Given the description of an element on the screen output the (x, y) to click on. 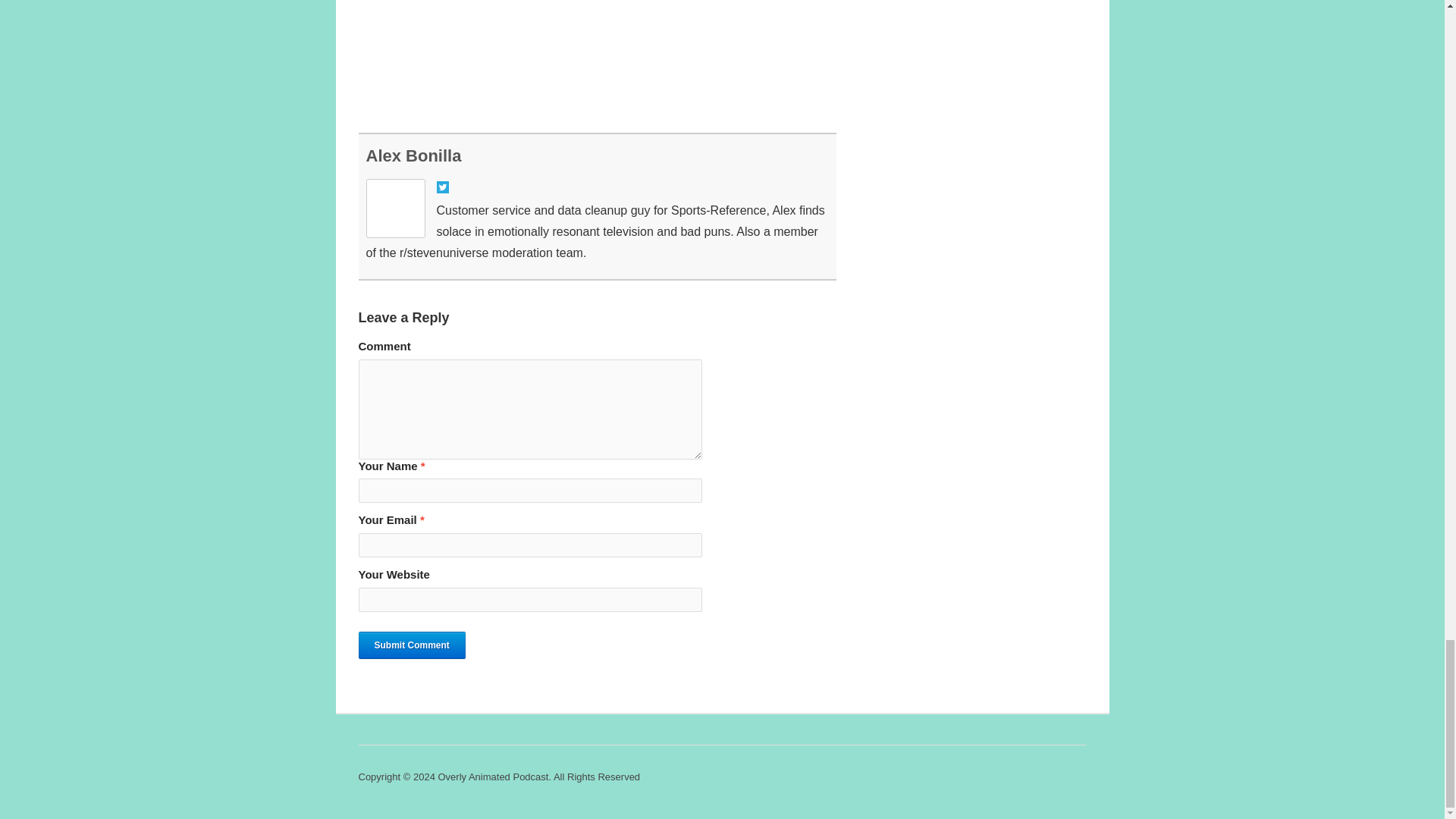
Submit Comment (411, 645)
All posts by Alex Bonilla (413, 155)
Alex Bonilla (413, 155)
Submit Comment (411, 645)
